Given the description of an element on the screen output the (x, y) to click on. 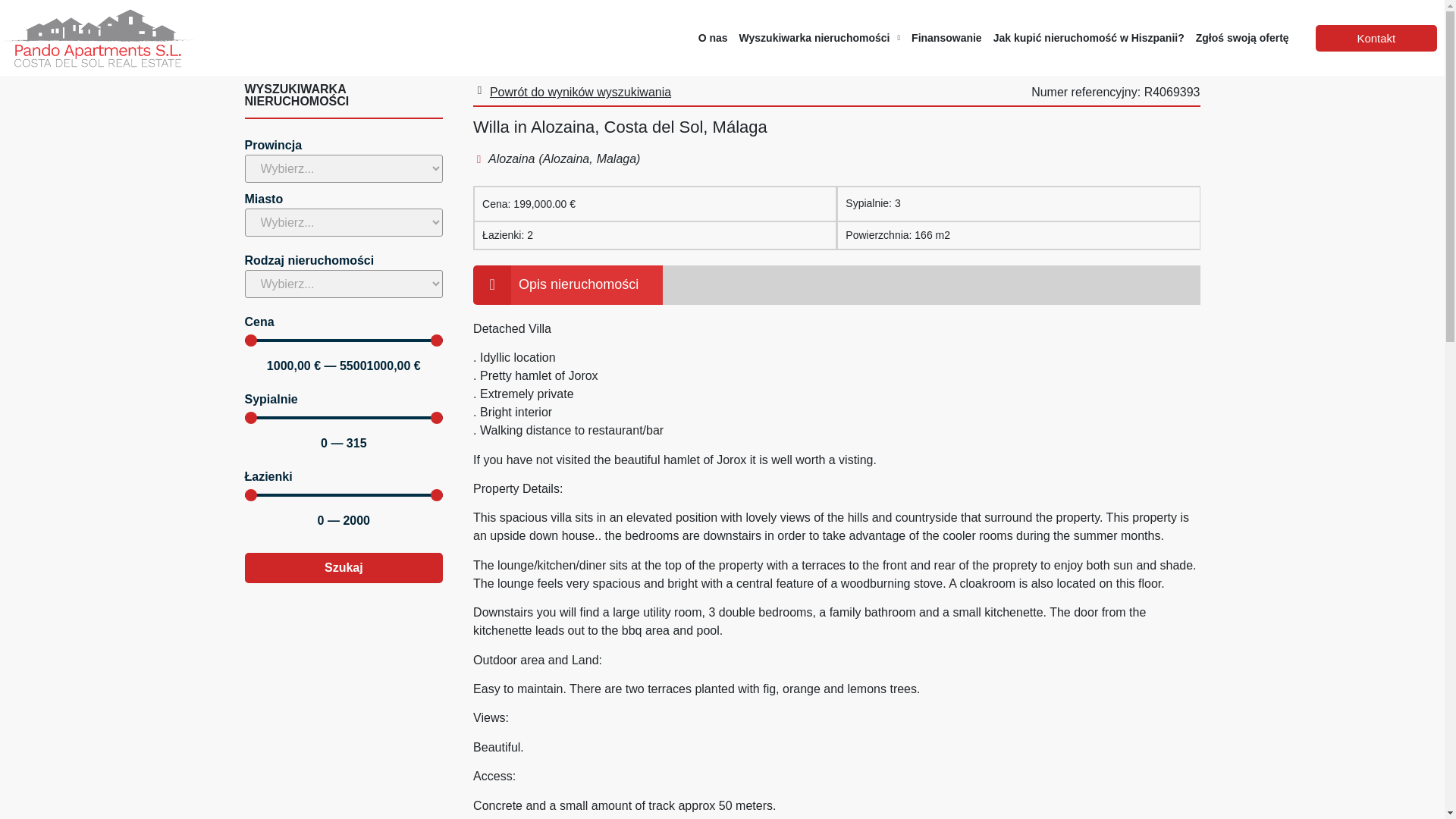
0 (343, 417)
0 (343, 494)
315 (343, 417)
1000 (343, 340)
Kontakt (1376, 38)
Finansowanie (946, 37)
2000 (343, 494)
55001000 (343, 340)
Szukaj (343, 567)
